Given the description of an element on the screen output the (x, y) to click on. 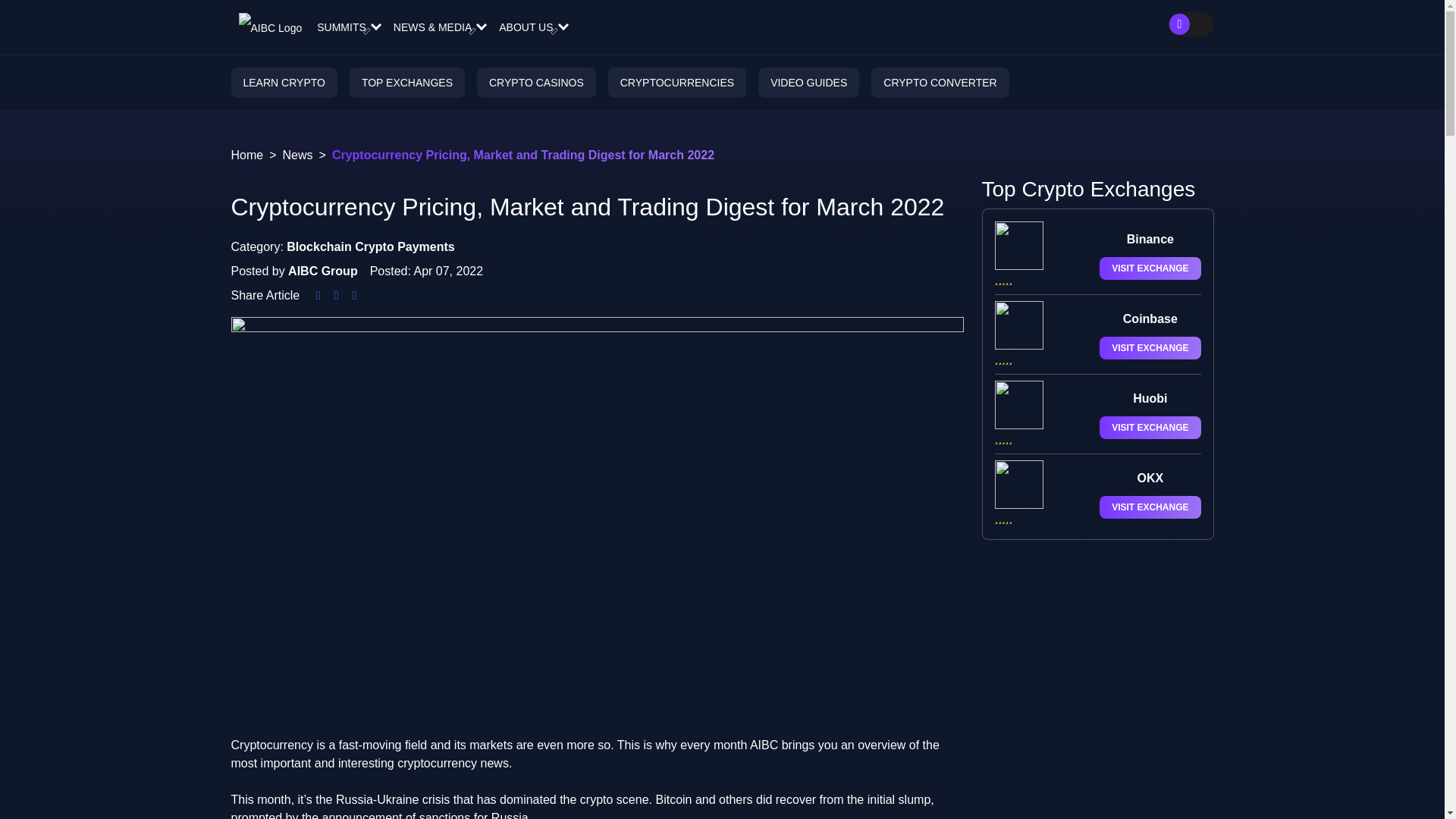
SUMMITS (346, 27)
